Given the description of an element on the screen output the (x, y) to click on. 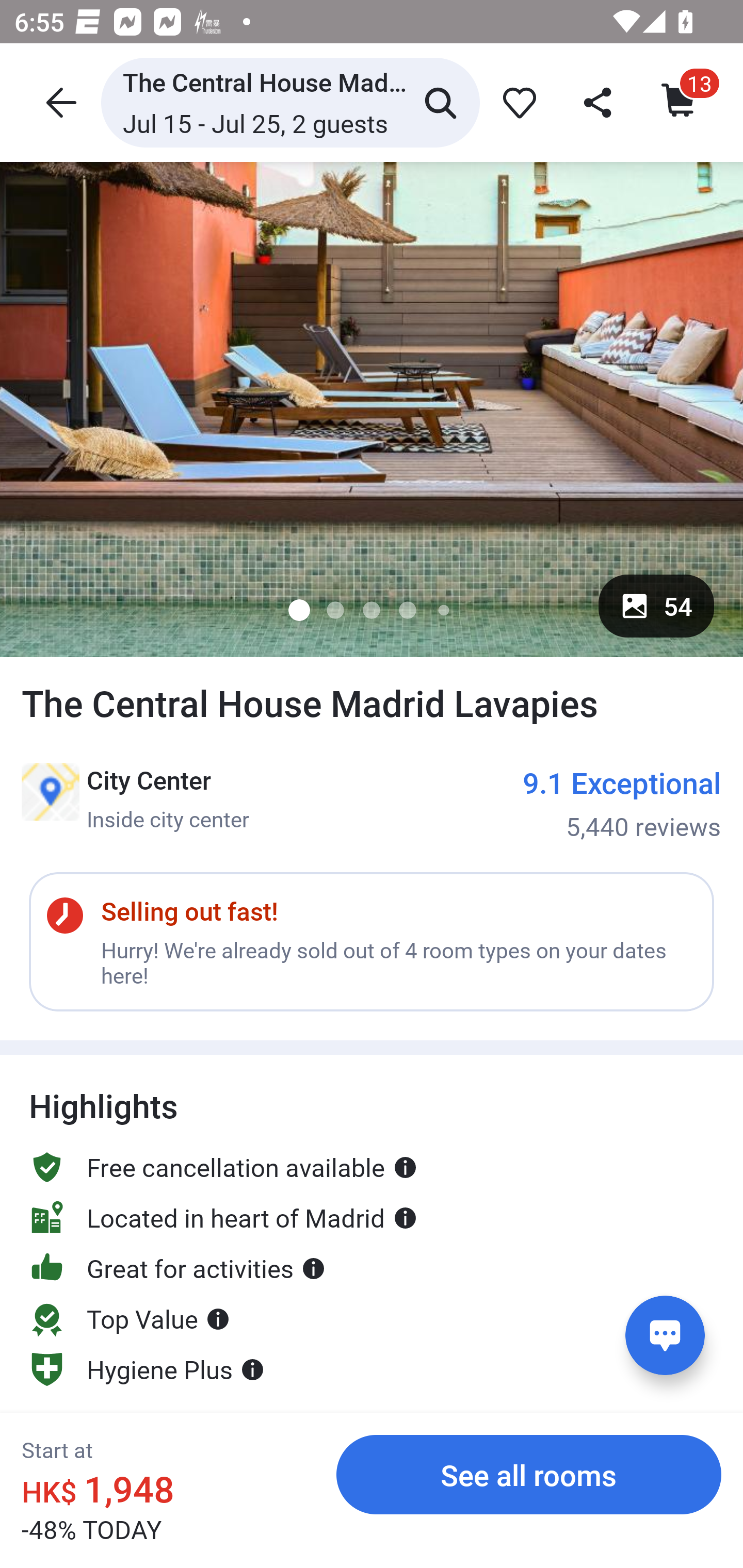
header icon (59, 102)
favorite_icon 0dbe6efb (515, 102)
share_header_icon (598, 102)
Cart icon cart_item_count 13 (679, 102)
image (371, 408)
54 (656, 605)
City Center Inside city center (134, 798)
9.1 Exceptional 5,440 reviews (621, 803)
Free cancellation available (222, 1149)
Located in heart of Madrid (222, 1217)
Great for activities (177, 1268)
Top Value (129, 1300)
Hygiene Plus (146, 1369)
See all rooms (528, 1474)
